Given the description of an element on the screen output the (x, y) to click on. 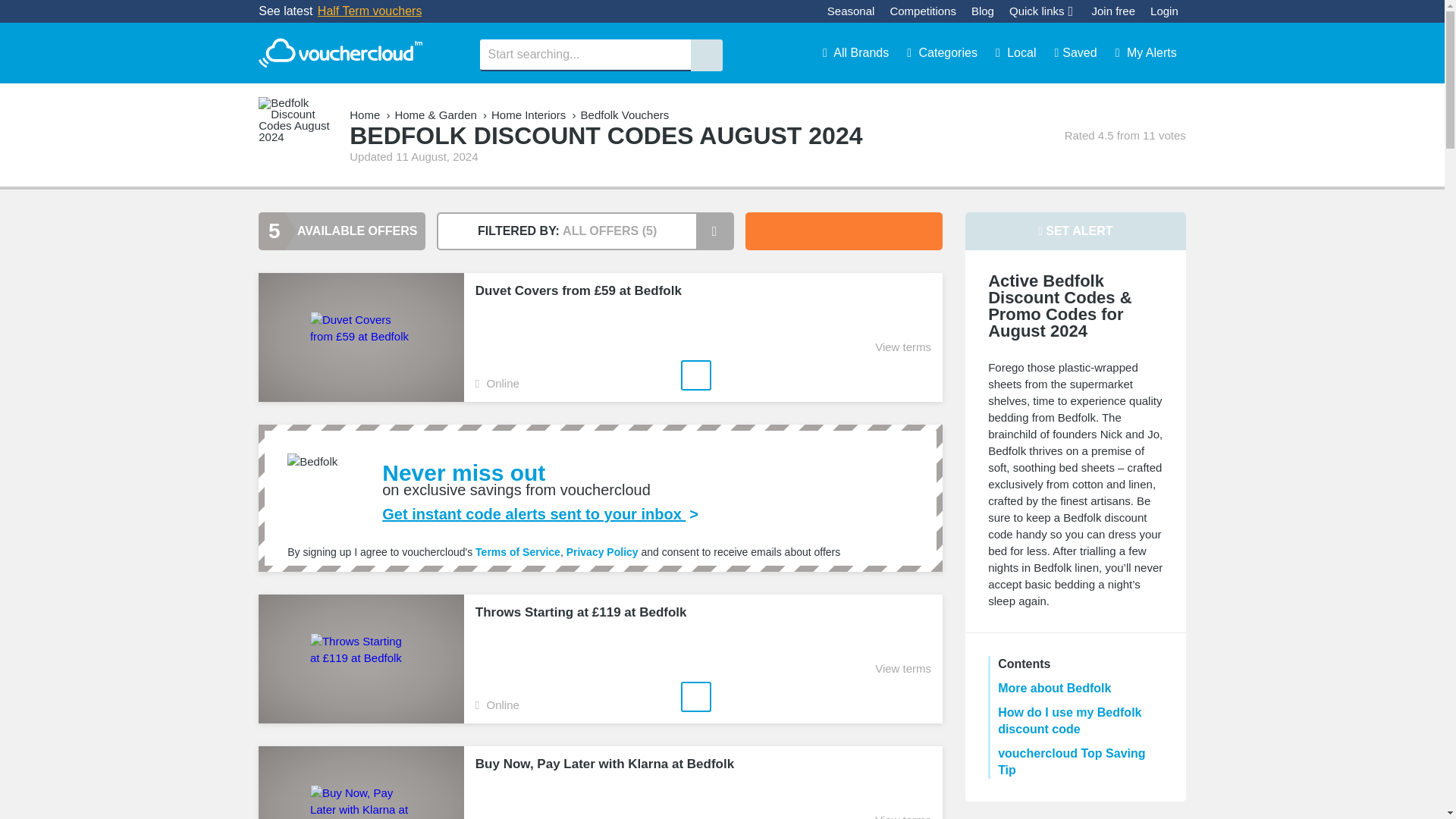
vouchercloud (340, 52)
SEARCH (706, 55)
